Given the description of an element on the screen output the (x, y) to click on. 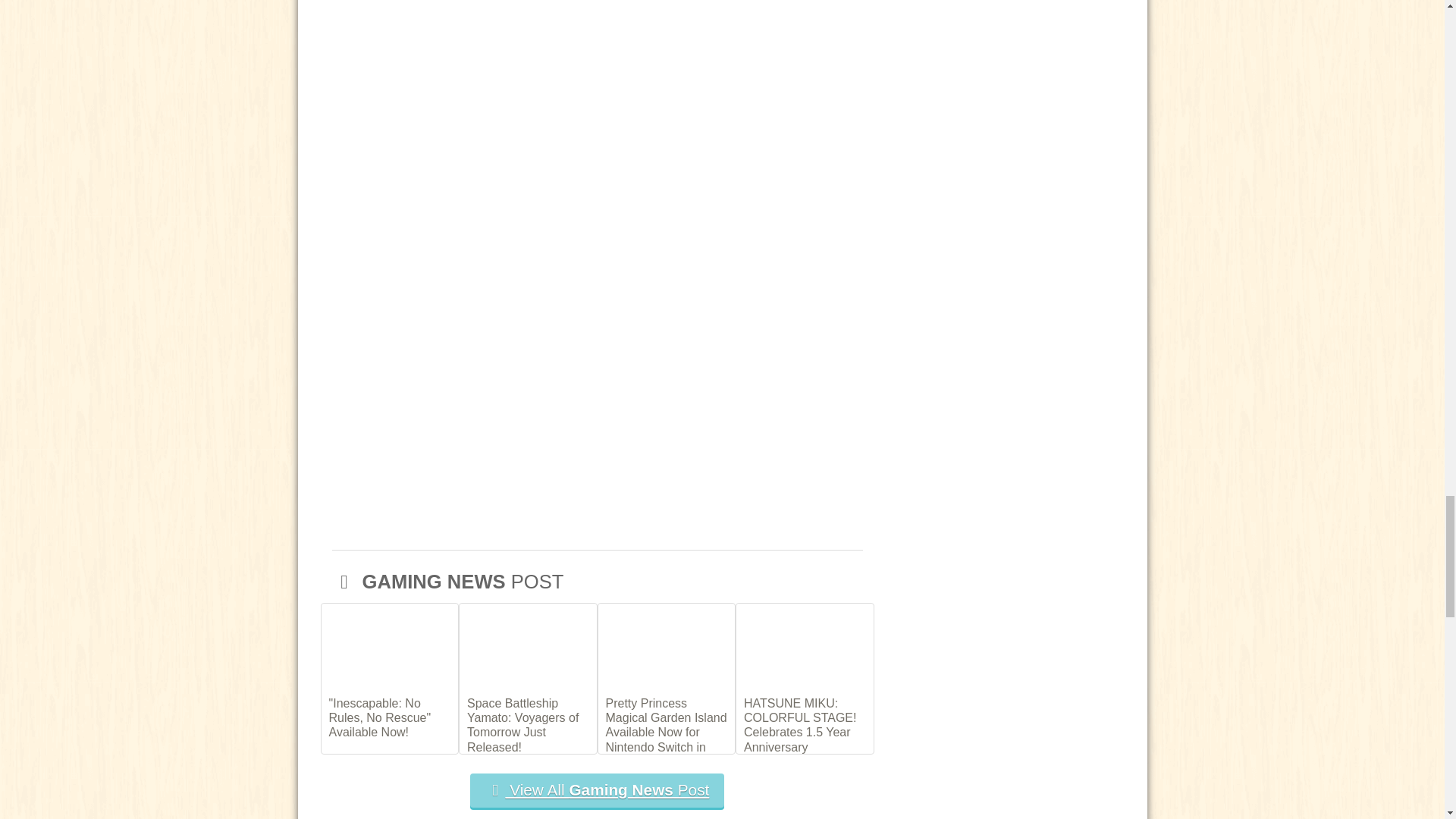
View All Gaming News Post (597, 790)
Space Battleship Yamato: Voyagers of Tomorrow Just Released! (528, 724)
"Inescapable: No Rules, No Rescue" Available Now! (389, 716)
